Given the description of an element on the screen output the (x, y) to click on. 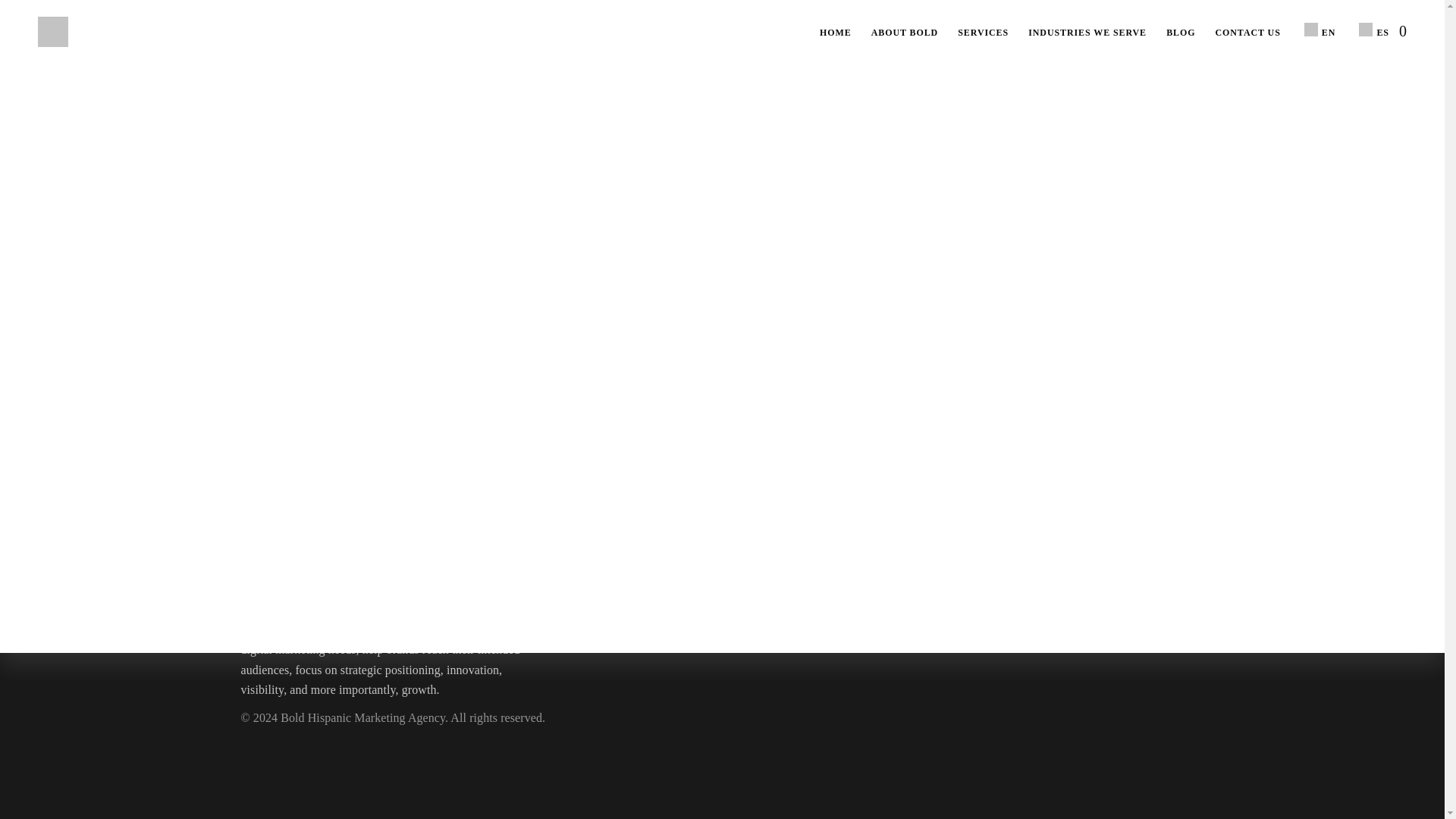
English (1310, 29)
Spanish (1365, 29)
CONTACT US (1247, 32)
INDUSTRIES WE SERVE (1086, 32)
EN (1317, 30)
SERVICES (982, 32)
ABOUT BOLD (904, 32)
